Given the description of an element on the screen output the (x, y) to click on. 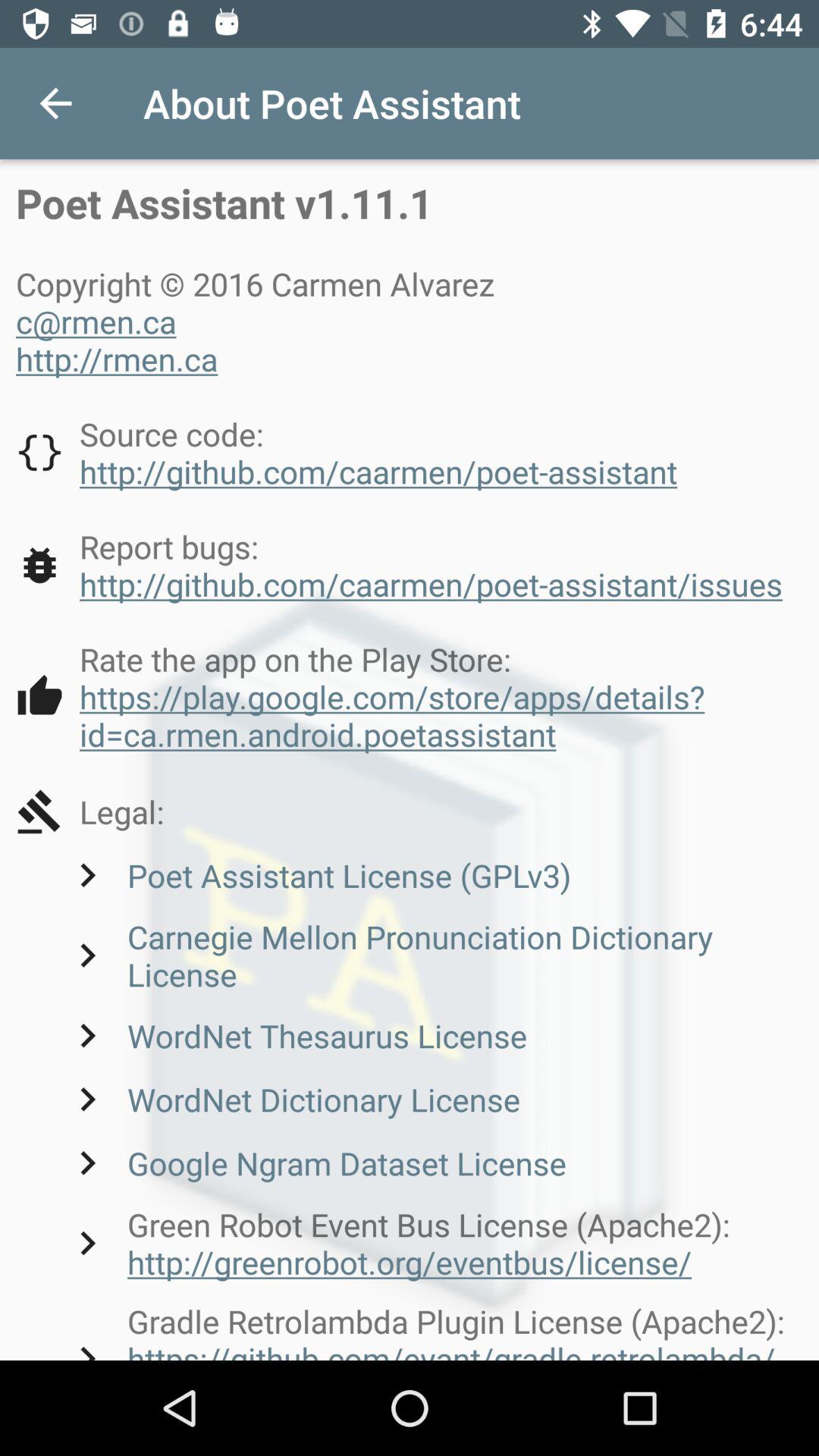
tap icon above the wordnet thesaurus license item (433, 955)
